Given the description of an element on the screen output the (x, y) to click on. 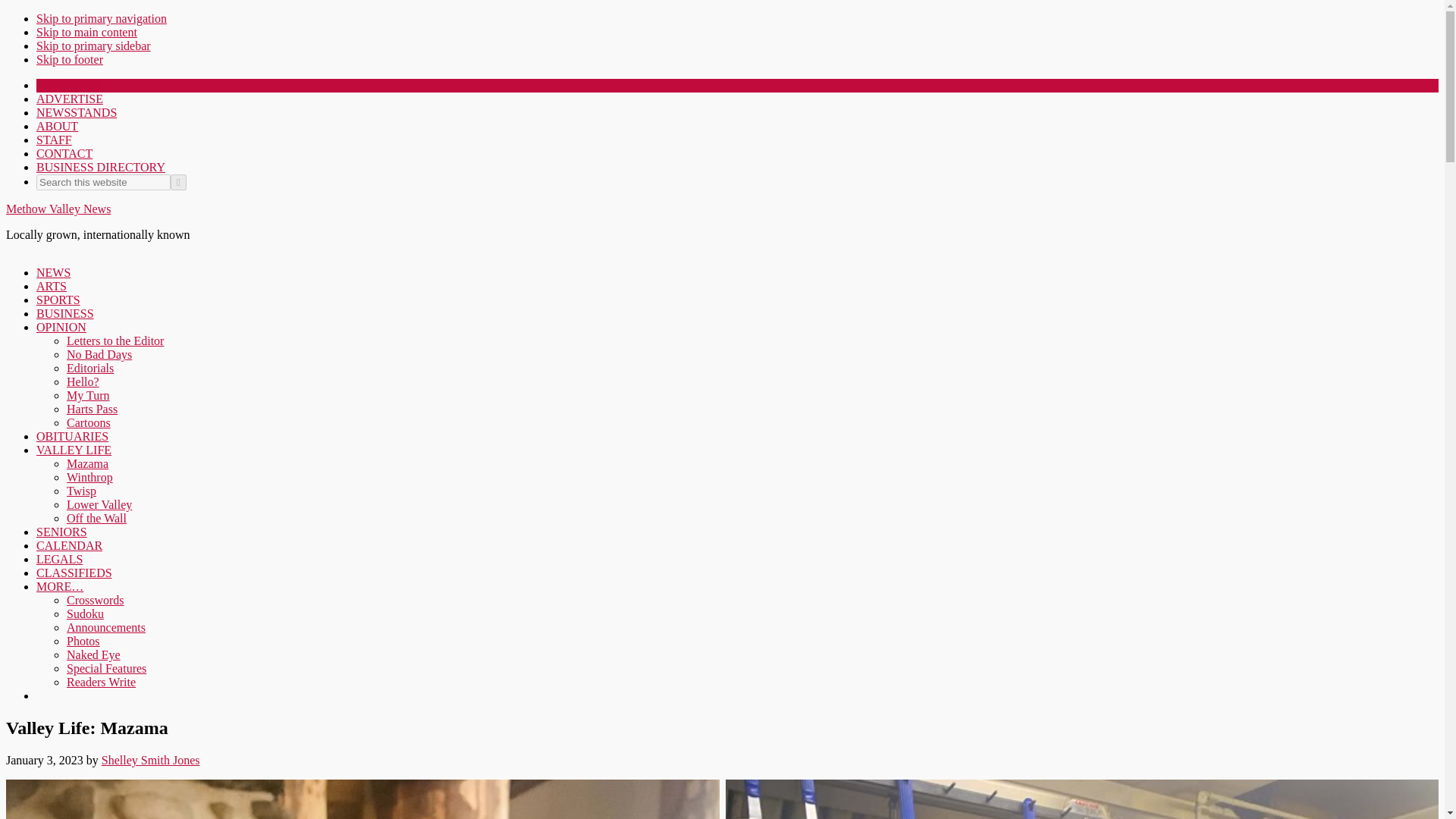
CLASSIFIEDS (74, 572)
ABOUT (57, 125)
VALLEY LIFE (74, 449)
Editorials (89, 367)
SENIORS (61, 531)
Mazama (86, 463)
Skip to main content (86, 31)
BUSINESS (65, 313)
SUBSCRIBE (68, 84)
Crosswords (94, 599)
CONTACT (64, 153)
CALENDAR (68, 545)
OPINION (60, 327)
NEWS (52, 272)
OBITUARIES (71, 436)
